Given the description of an element on the screen output the (x, y) to click on. 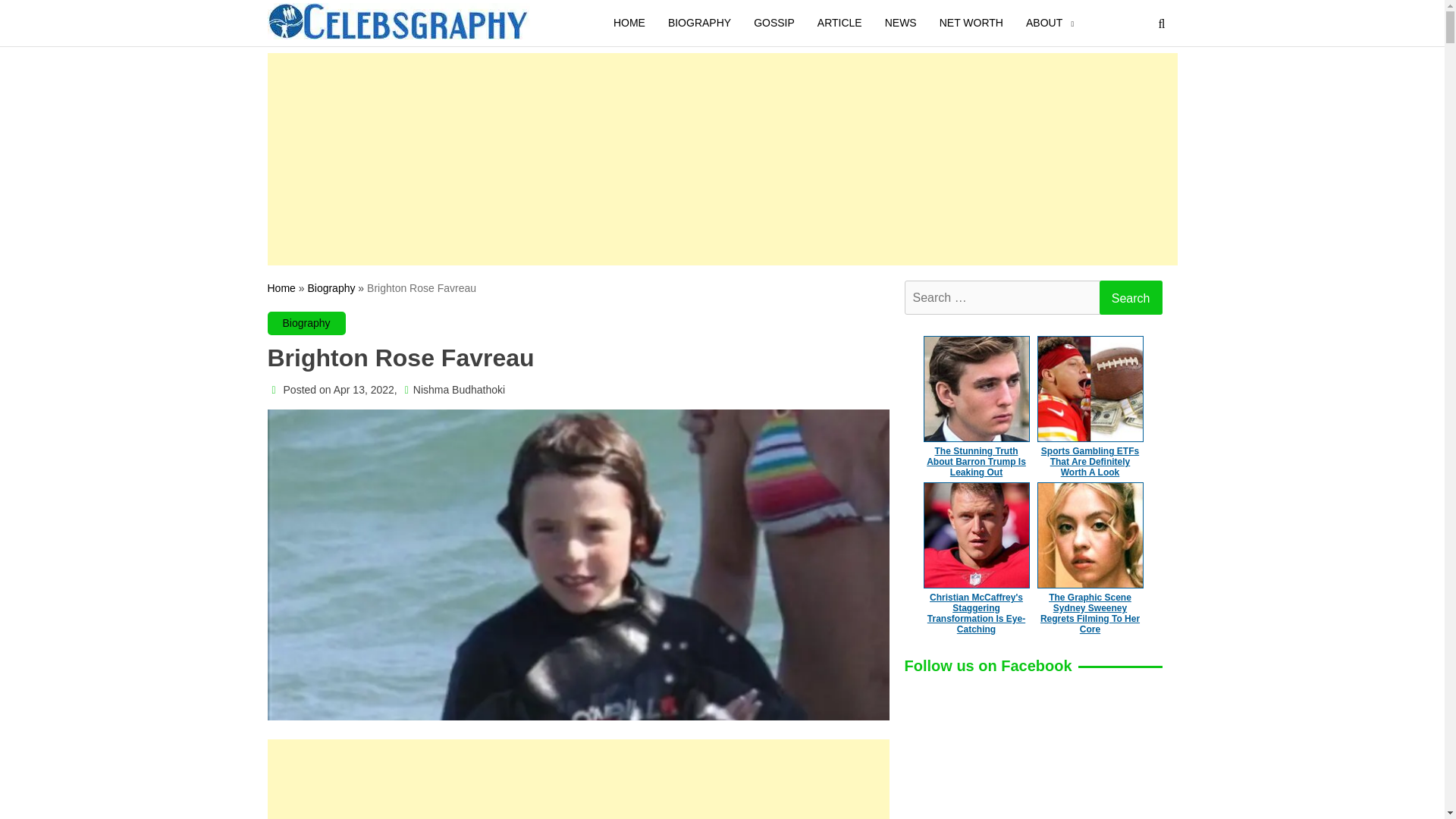
BIOGRAPHY (699, 22)
Home (280, 287)
Biography (331, 287)
NEWS (900, 22)
NET WORTH (971, 22)
Biography (305, 322)
ABOUT (1044, 22)
Search (1130, 297)
Advertisement (577, 782)
HOME (629, 22)
ARTICLE (839, 22)
Search (1130, 297)
GOSSIP (774, 22)
